Given the description of an element on the screen output the (x, y) to click on. 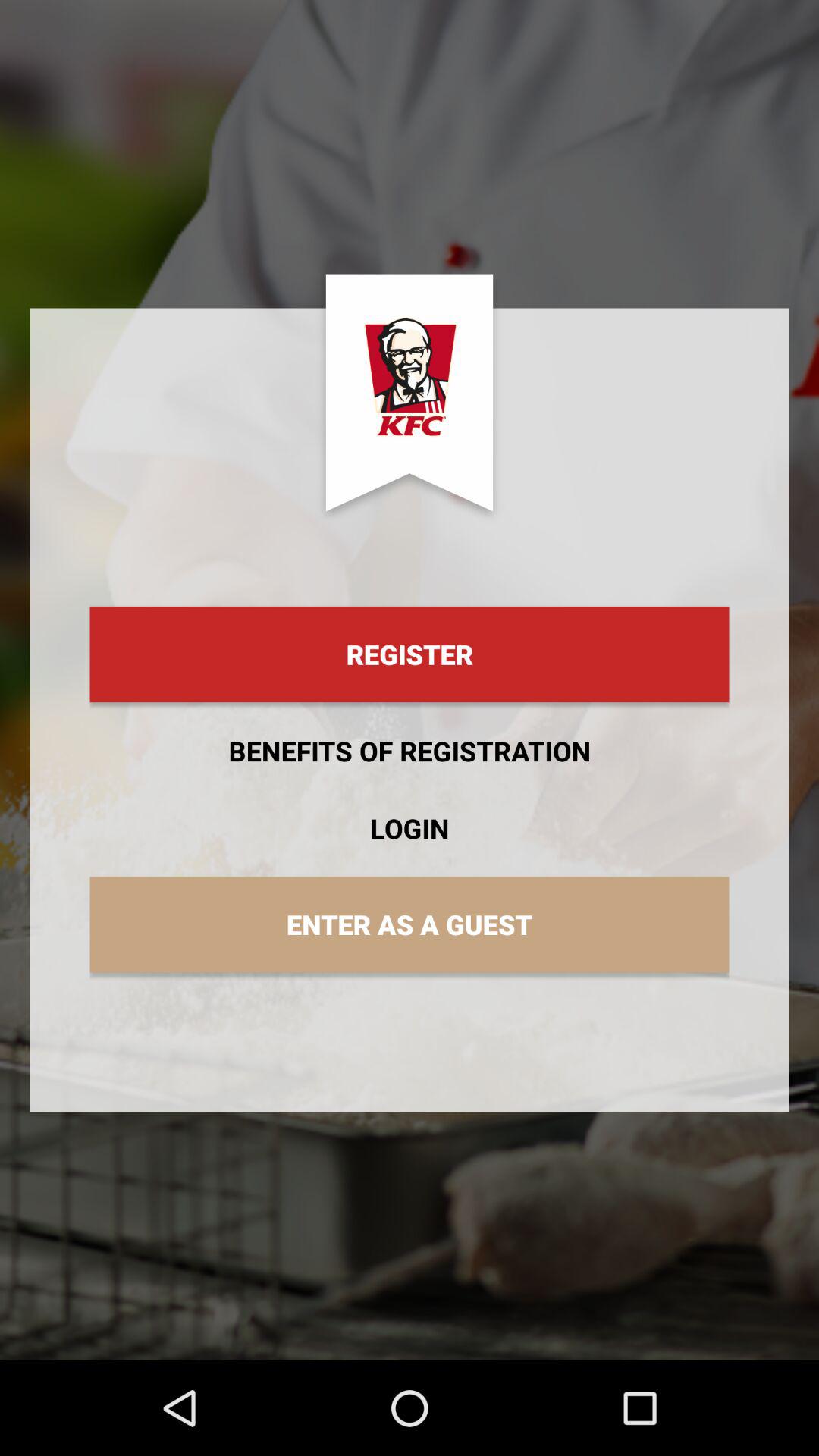
click the button above enter as a button (409, 828)
